Given the description of an element on the screen output the (x, y) to click on. 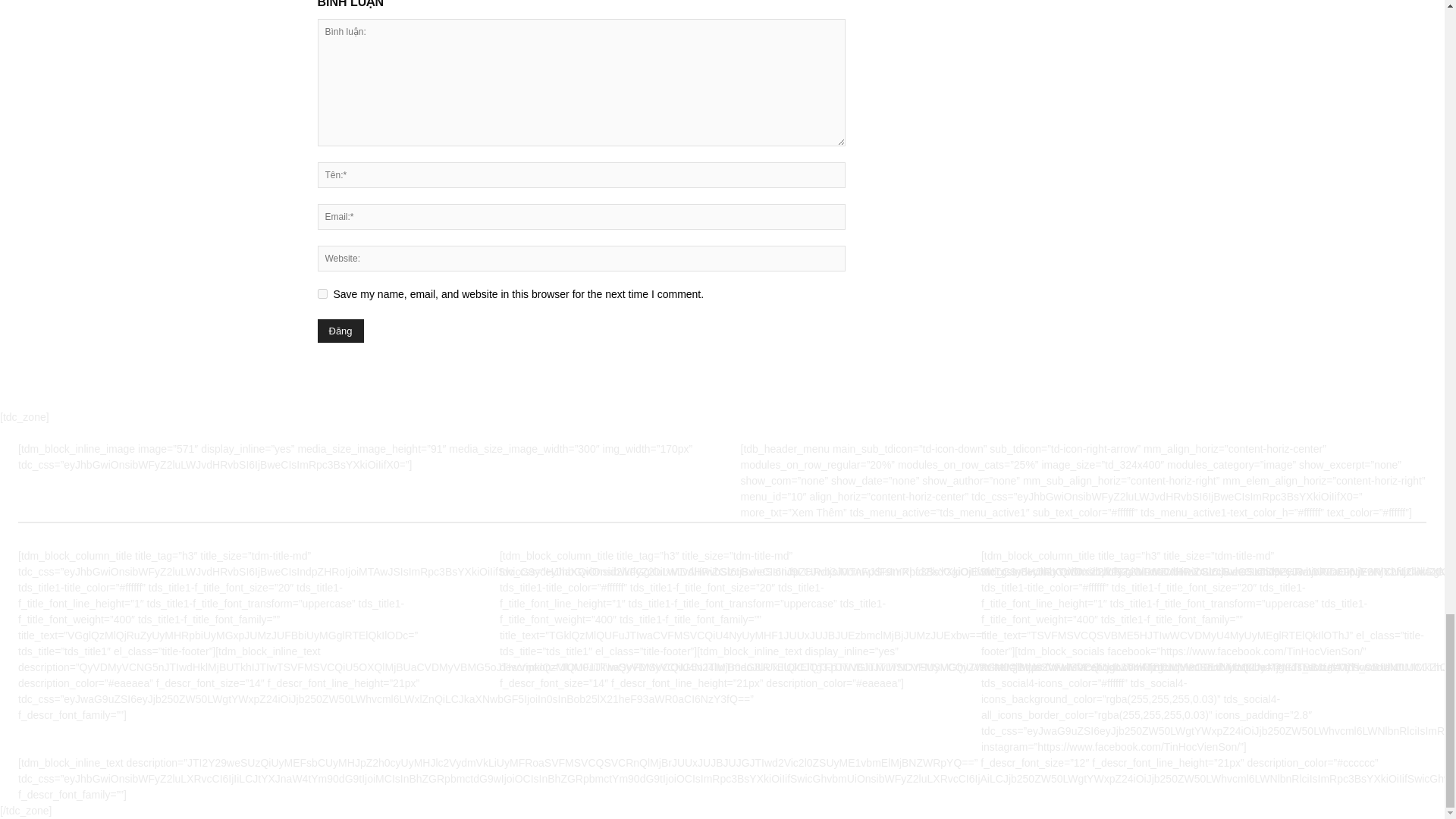
yes (321, 293)
